Given the description of an element on the screen output the (x, y) to click on. 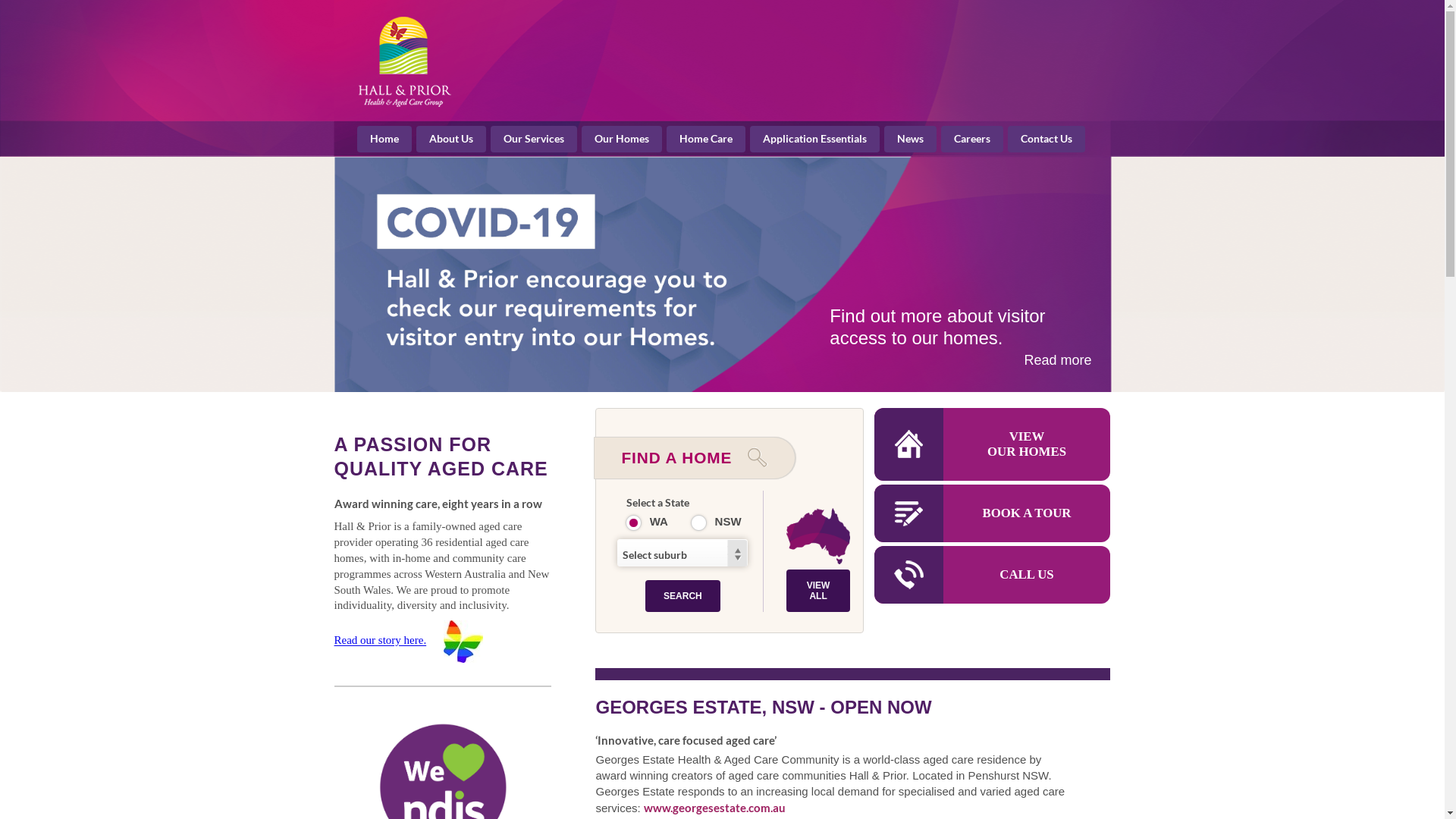
About Us Element type: hover (463, 640)
www.georgesestate.com.au Element type: text (714, 807)
Our Homes Element type: text (621, 138)
BOOK A TOUR Element type: text (992, 513)
Home Element type: text (384, 138)
VIEW ALL Element type: text (817, 590)
About Us Element type: text (451, 138)
Home Care Element type: text (705, 138)
Our Services Element type: text (533, 138)
Careers Element type: text (972, 138)
Read more Element type: text (1057, 360)
CALL US Element type: text (992, 574)
VIEW
OUR HOMES Element type: text (992, 443)
Application Essentials Element type: text (814, 138)
Read our story here. Element type: text (379, 640)
Contact Us Element type: text (1046, 138)
News Element type: text (910, 138)
SEARCH Element type: text (682, 595)
